Given the description of an element on the screen output the (x, y) to click on. 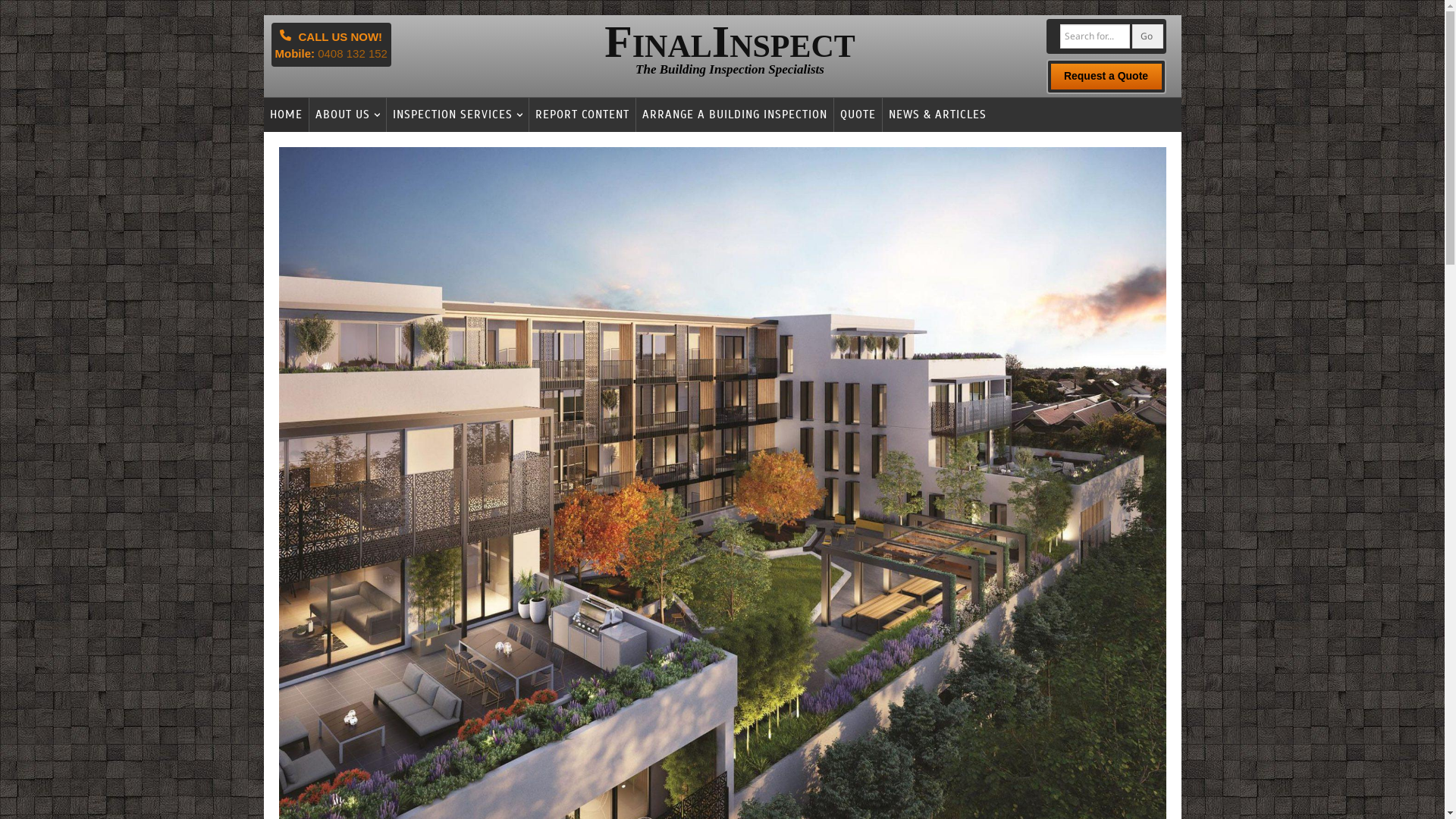
0408 132 152 Element type: text (352, 53)
Request a Quote Element type: text (1105, 75)
Go Element type: text (1147, 36)
QUOTE Element type: text (856, 114)
REPORT CONTENT Element type: text (580, 114)
NEWS & ARTICLES Element type: text (936, 114)
FinalInspect Element type: text (729, 41)
HOME Element type: text (285, 114)
ARRANGE A BUILDING INSPECTION Element type: text (734, 114)
